Given the description of an element on the screen output the (x, y) to click on. 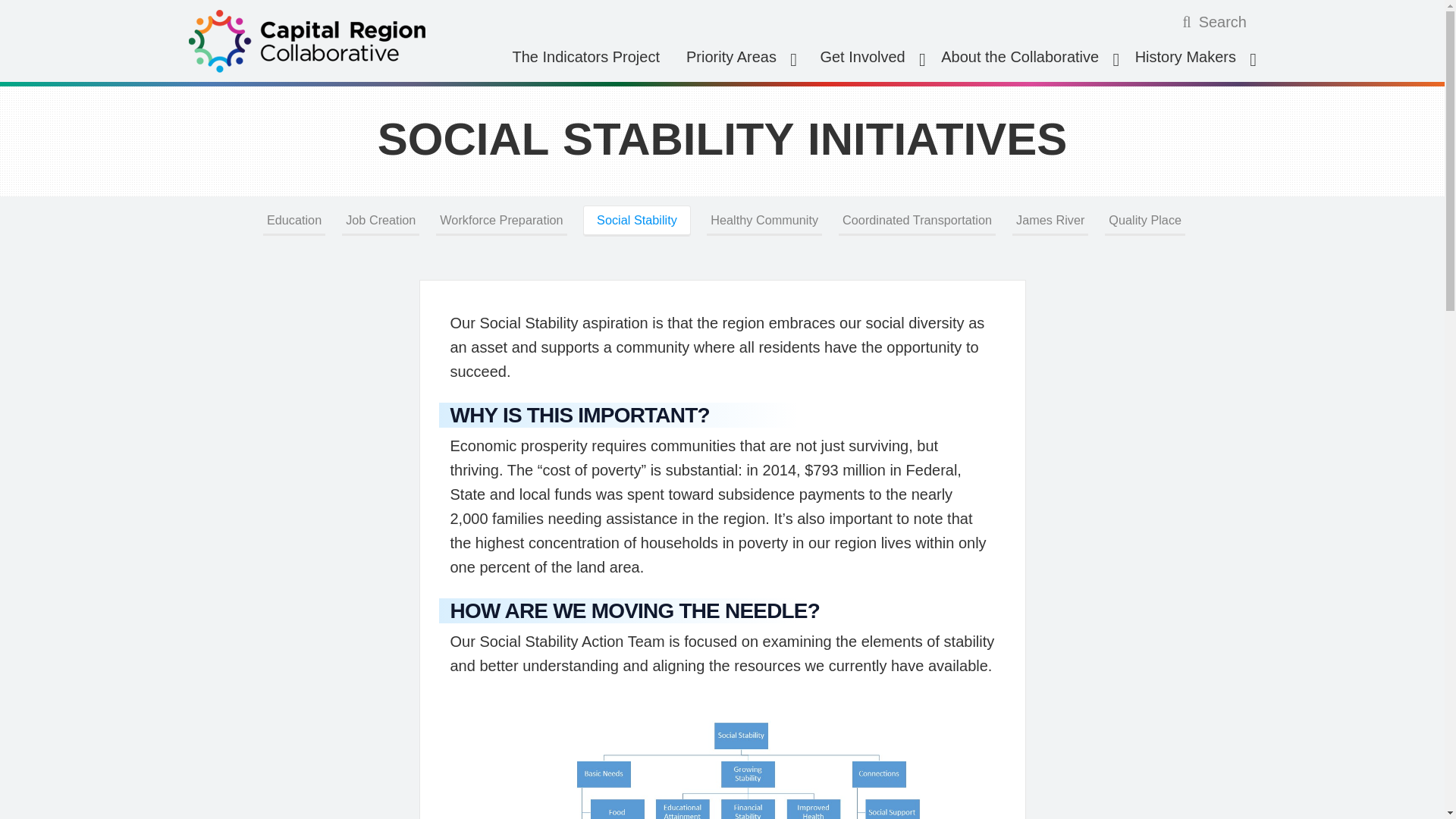
Quality Place (1144, 220)
Social Stability (637, 220)
Education (294, 220)
Job Creation (380, 220)
Skip to content (24, 22)
About the Collaborative (1024, 56)
Workforce Preparation (501, 220)
The Indicators Project (585, 56)
CRC (315, 40)
Coordinated Transportation (916, 220)
